Given the description of an element on the screen output the (x, y) to click on. 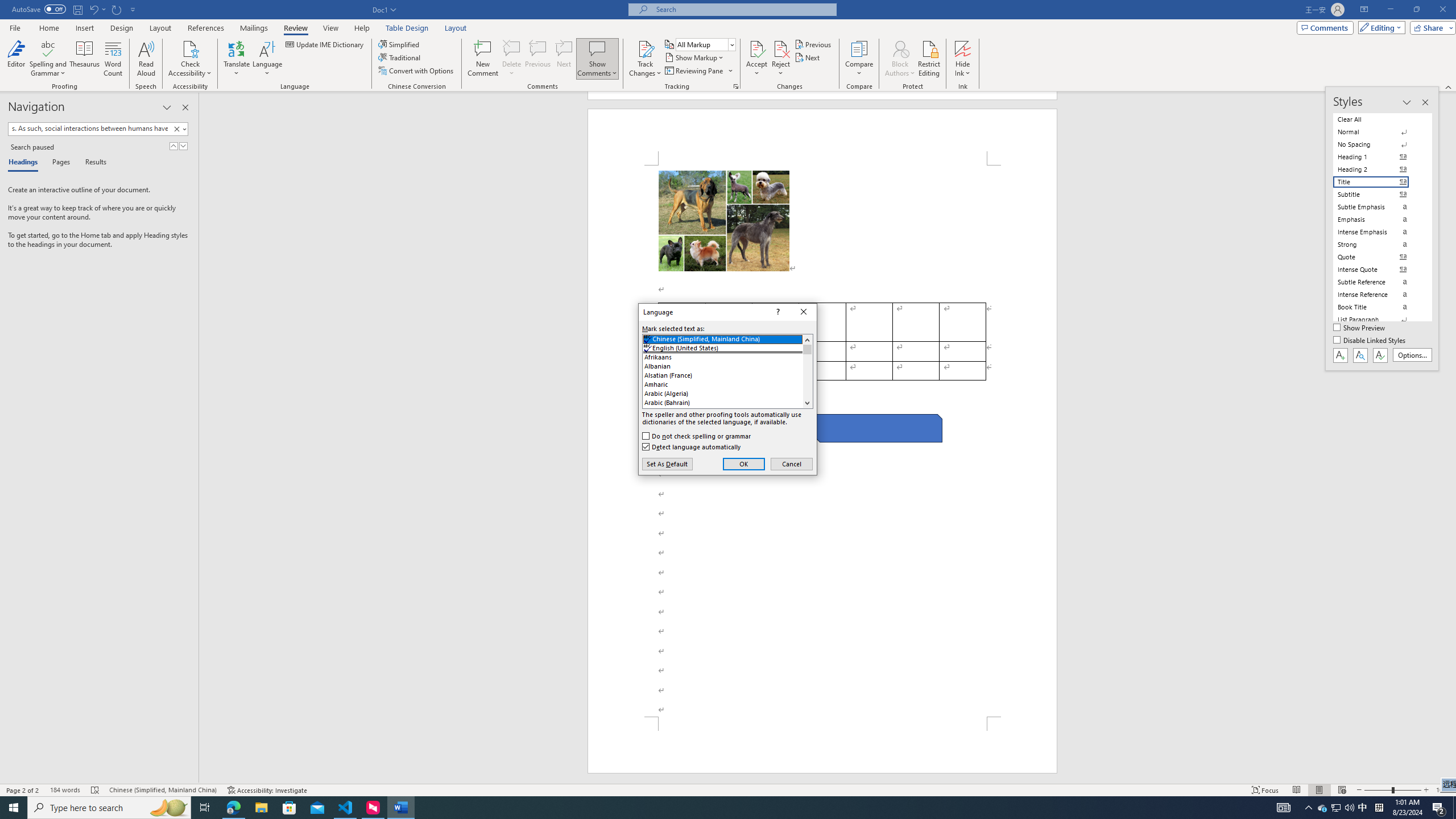
Previous (813, 44)
Hide Ink (962, 58)
Compare (859, 58)
Spelling and Grammar (48, 58)
AutomationID: 21 (807, 370)
Update IME Dictionary... (324, 44)
